Given the description of an element on the screen output the (x, y) to click on. 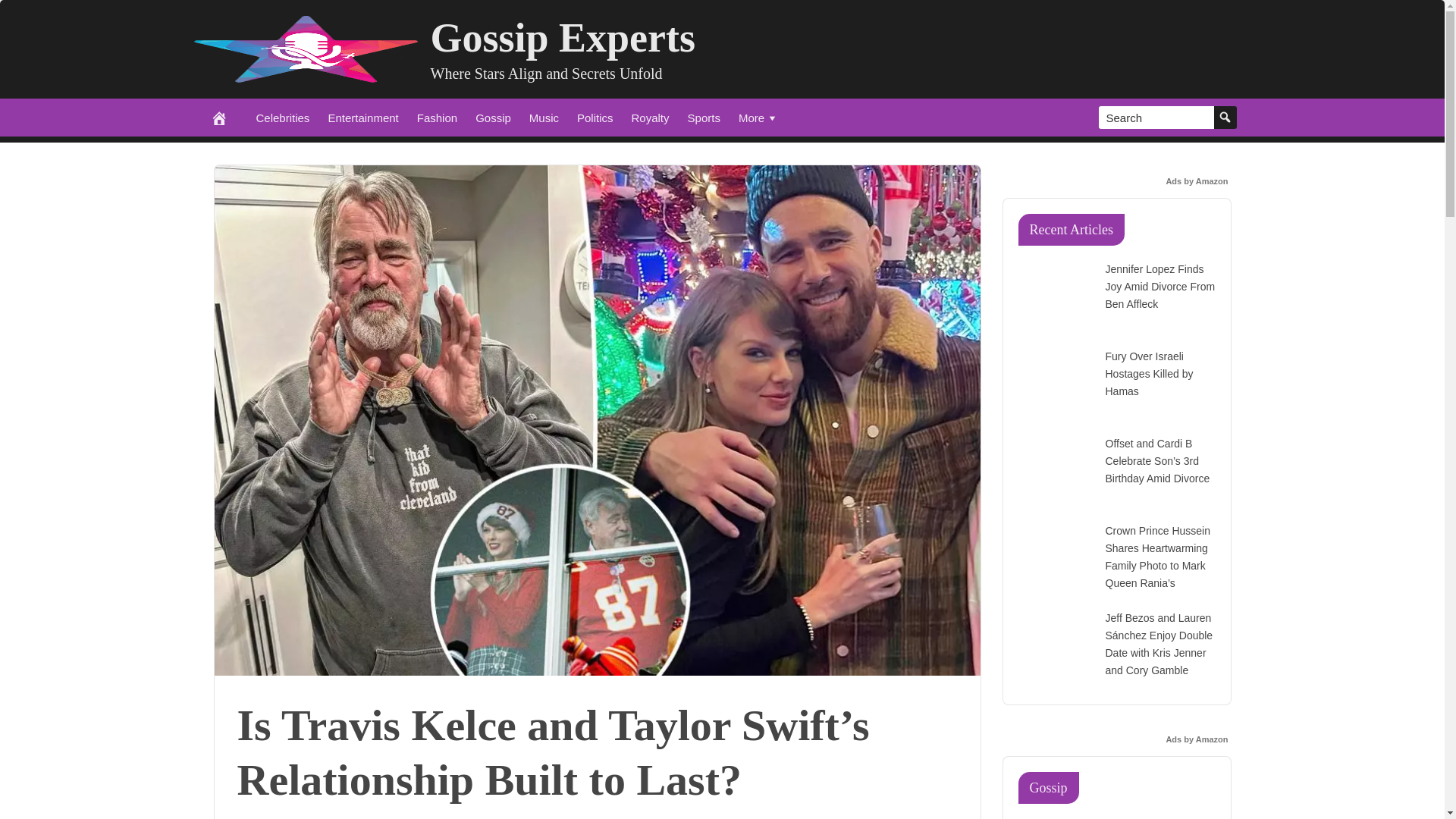
More (758, 117)
Music (543, 117)
Politics (595, 117)
Entertainment (362, 117)
Gossip (492, 117)
Sports (703, 117)
Royalty (650, 117)
Gossip Experts (562, 37)
Fashion (436, 117)
Celebrities (282, 117)
